Given the description of an element on the screen output the (x, y) to click on. 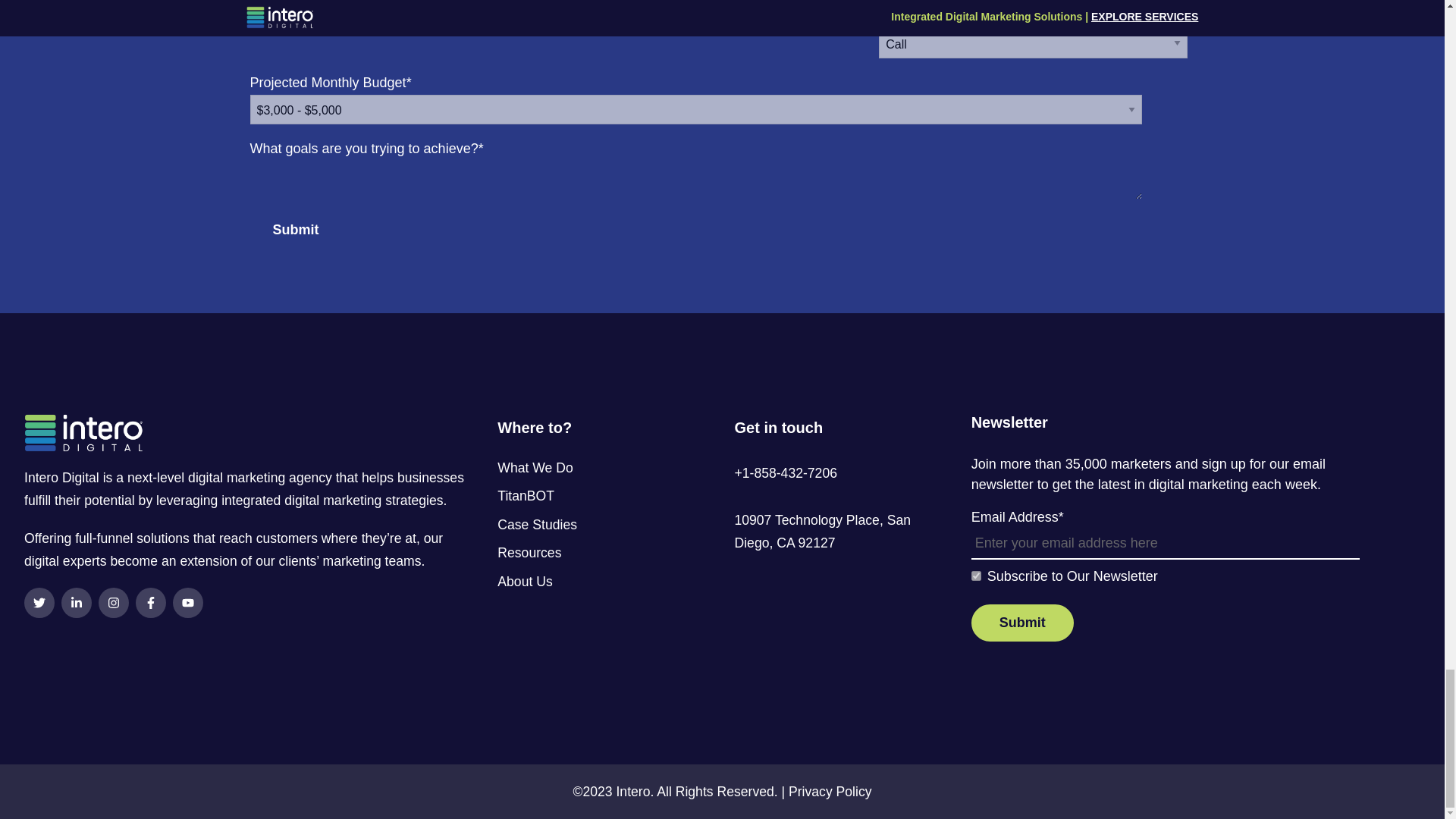
Submit (296, 229)
TitanBOT (603, 503)
true (976, 575)
Follow us on LinkedIn! (76, 603)
Follow us on Facebook! (150, 603)
Submit (1022, 622)
Submit (296, 229)
Case Studies (603, 532)
What We Do (603, 475)
Follow us on Twitter! (39, 603)
Follow us on Instagram! (114, 603)
Subscribe to our YouTube Channel! (188, 603)
